Given the description of an element on the screen output the (x, y) to click on. 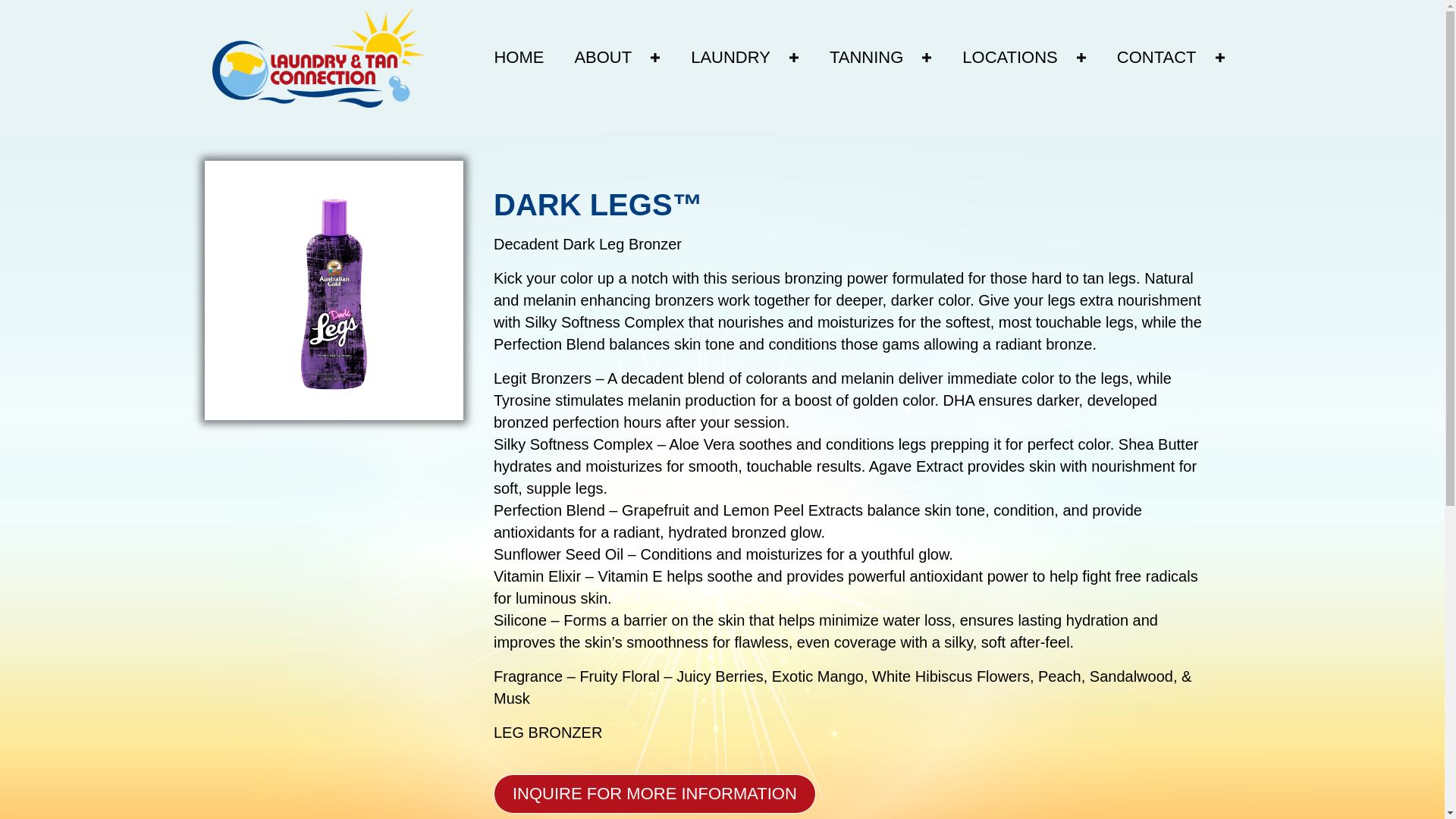
HOME (519, 57)
CONTACT (1171, 57)
ABOUT (617, 57)
TANNING (880, 57)
INQUIRE FOR MORE INFORMATION (654, 793)
LOCATIONS (1024, 57)
LAUNDRY (744, 57)
AG Dark Legs Bot 2023 (333, 290)
